Given the description of an element on the screen output the (x, y) to click on. 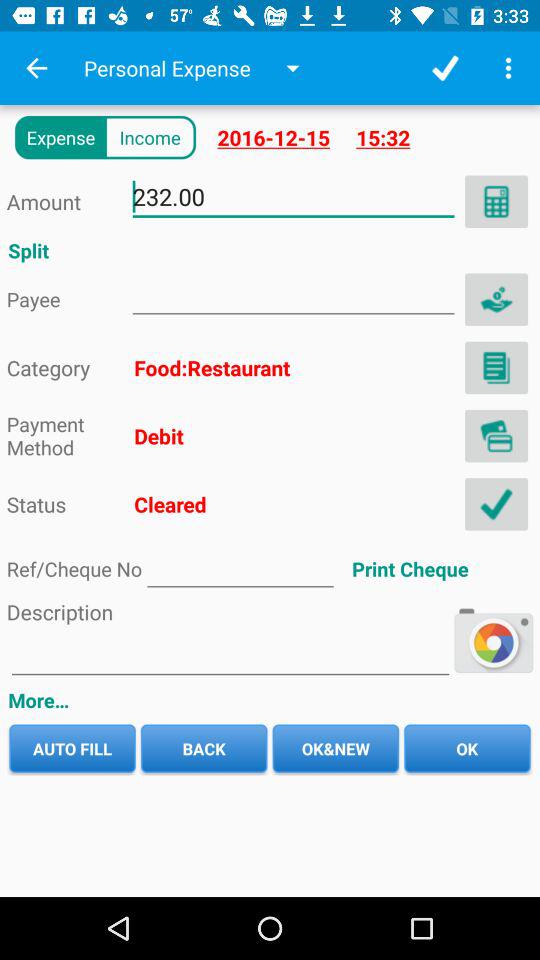
menu (496, 436)
